Given the description of an element on the screen output the (x, y) to click on. 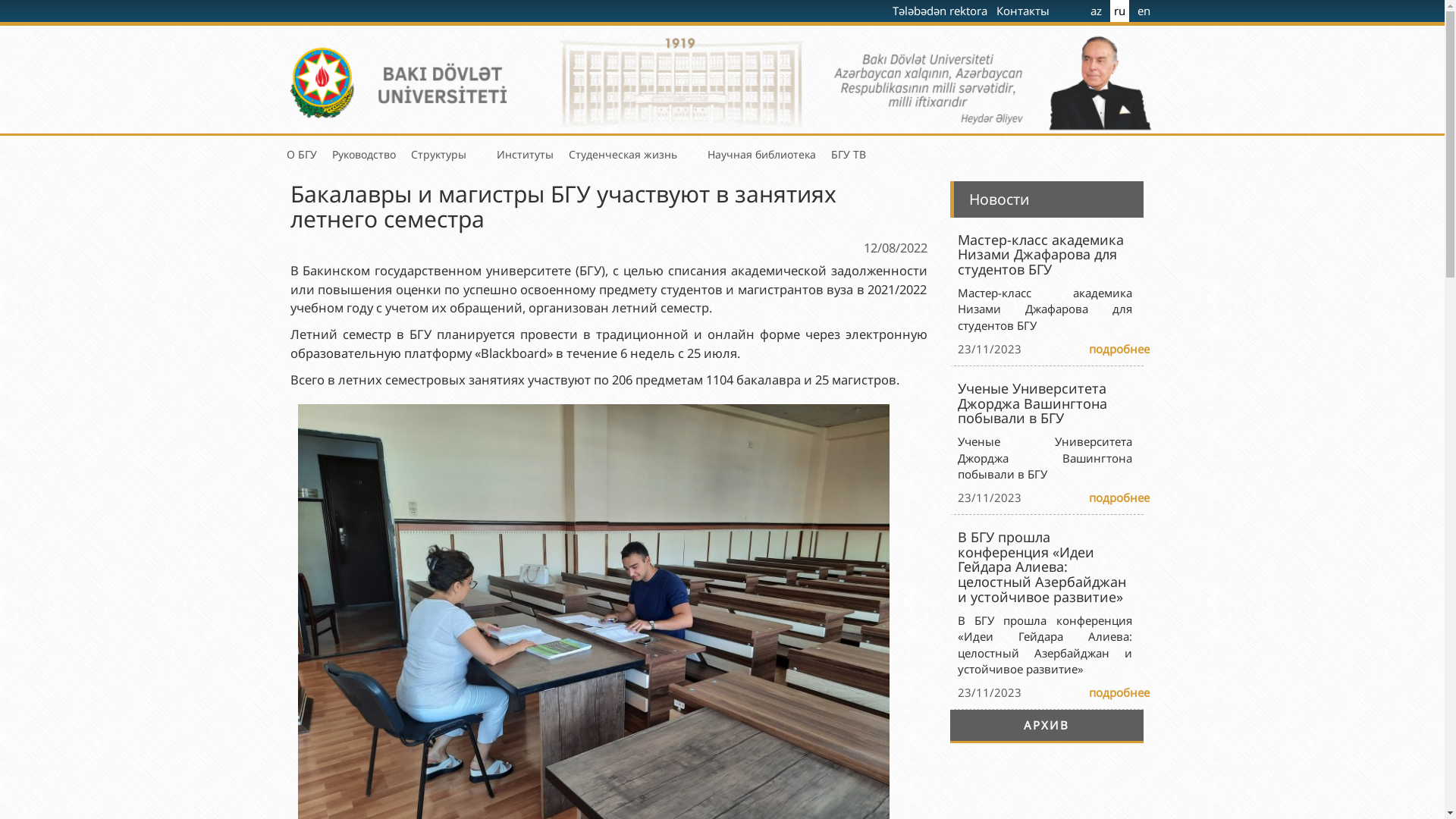
ru Element type: text (1118, 10)
en Element type: text (1143, 10)
az Element type: text (1095, 10)
